Given the description of an element on the screen output the (x, y) to click on. 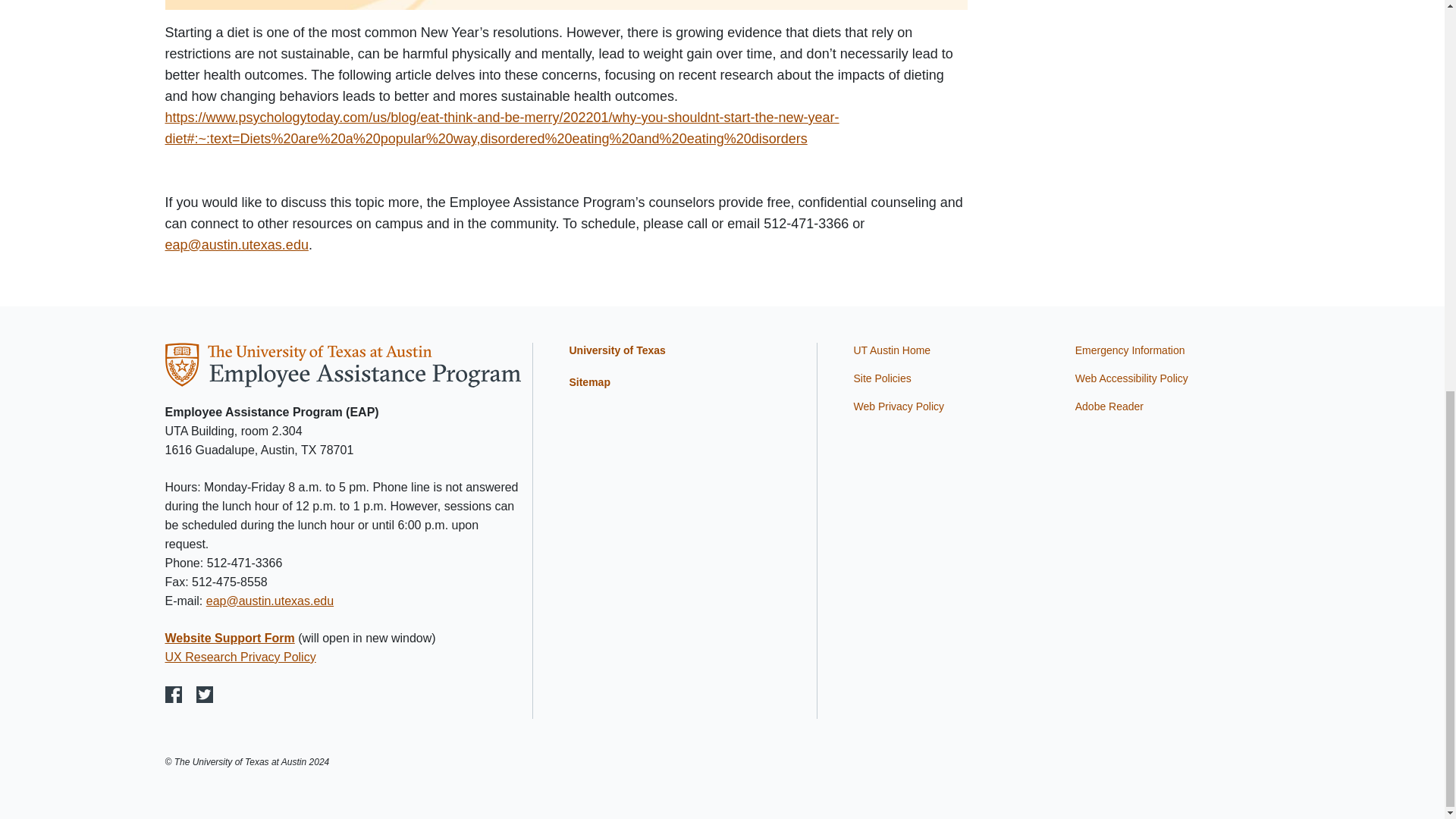
TwitterFind us on Twitter (204, 694)
Before You Start a Diet in 2024, Read This. (566, 4)
Home (343, 363)
FacebookFind us on Facebook (173, 694)
